Given the description of an element on the screen output the (x, y) to click on. 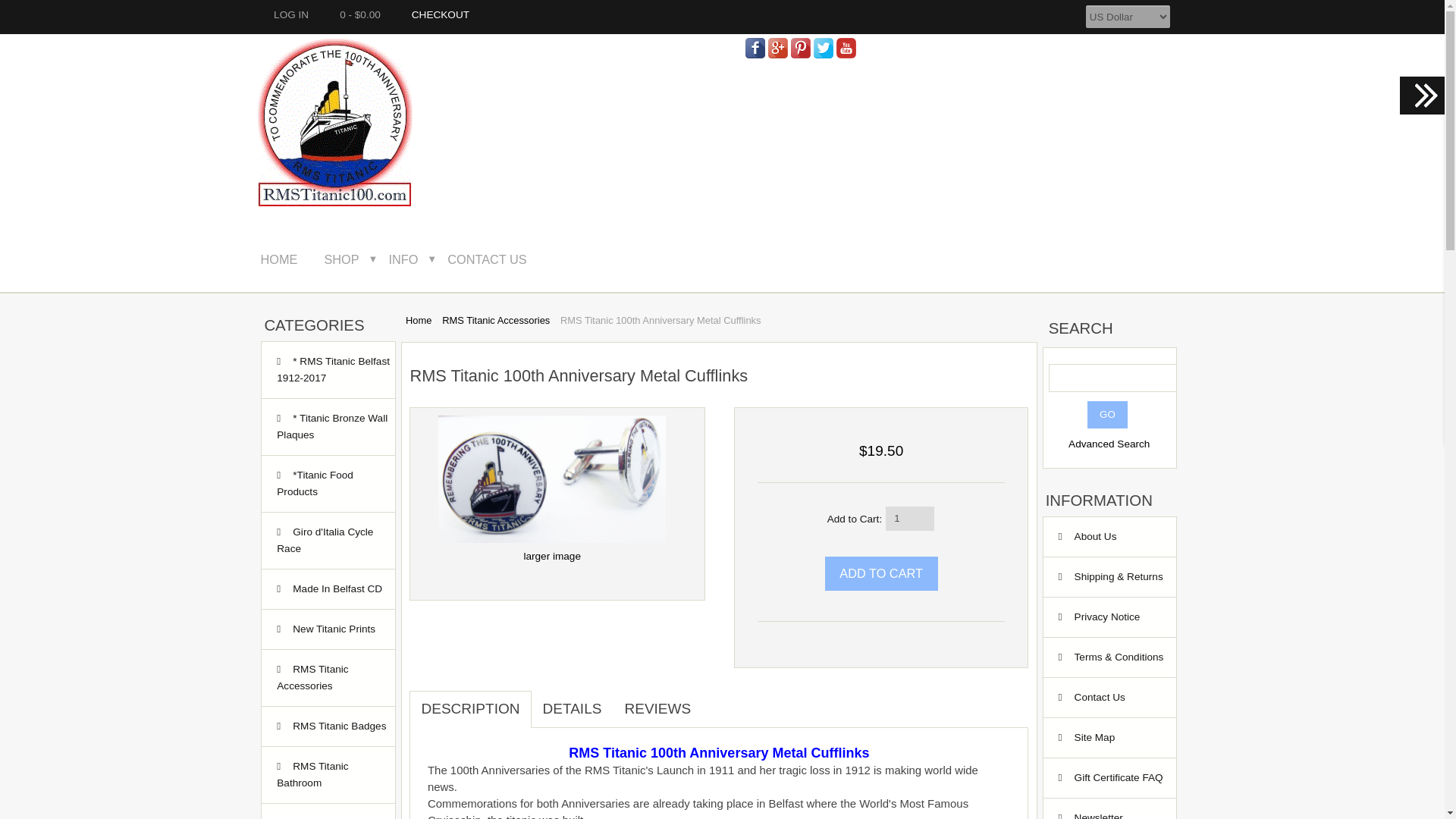
CHECKOUT (436, 14)
go (1106, 414)
go (1106, 414)
Add to Cart (881, 573)
 RMS Titanic 100th Anniversary Metal Cufflinks  (551, 479)
 The Belfast Titanic Gift Store online  (334, 121)
SHOP (351, 258)
LOG IN (287, 14)
HOME (289, 258)
1 (909, 518)
RMS Titanic 100th Anniversary Metal Cufflinks (551, 547)
